Given the description of an element on the screen output the (x, y) to click on. 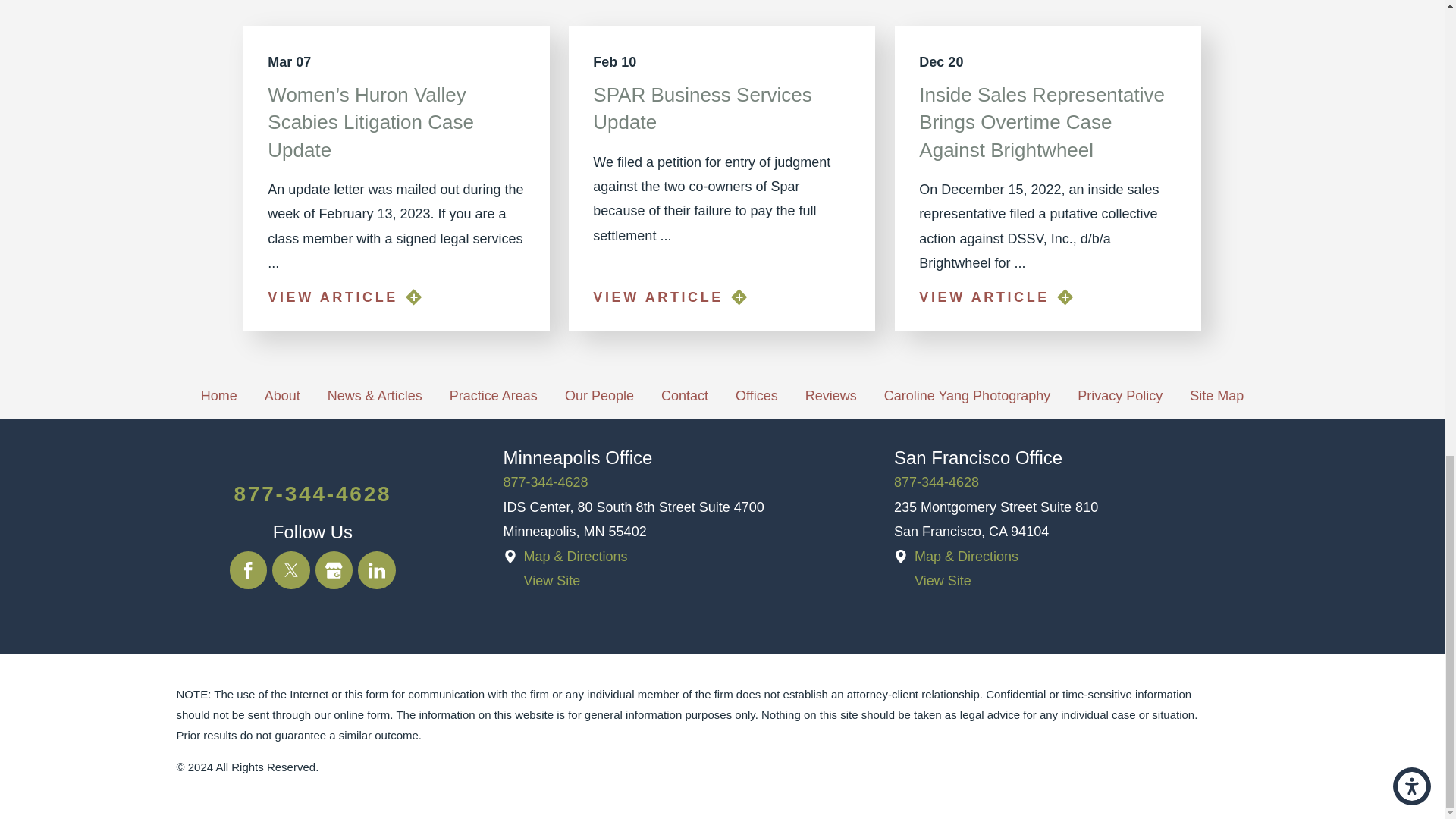
Google Business Profile (334, 569)
Twitter (291, 569)
Facebook (248, 569)
